Given the description of an element on the screen output the (x, y) to click on. 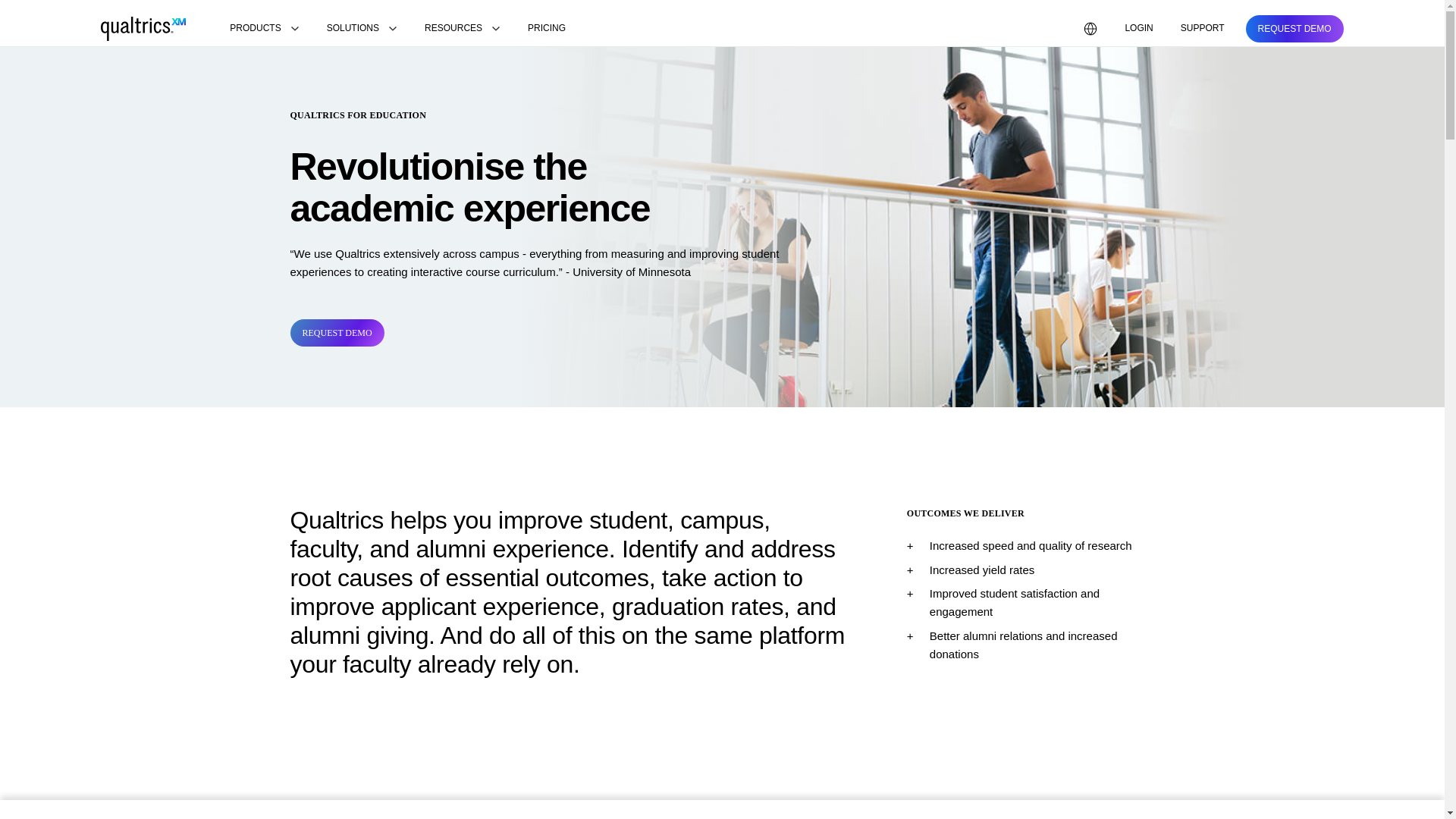
SOLUTIONS (361, 28)
Skip to main content (51, 9)
RESOURCES (462, 28)
PRODUCTS (264, 28)
PRICING (546, 28)
